Given the description of an element on the screen output the (x, y) to click on. 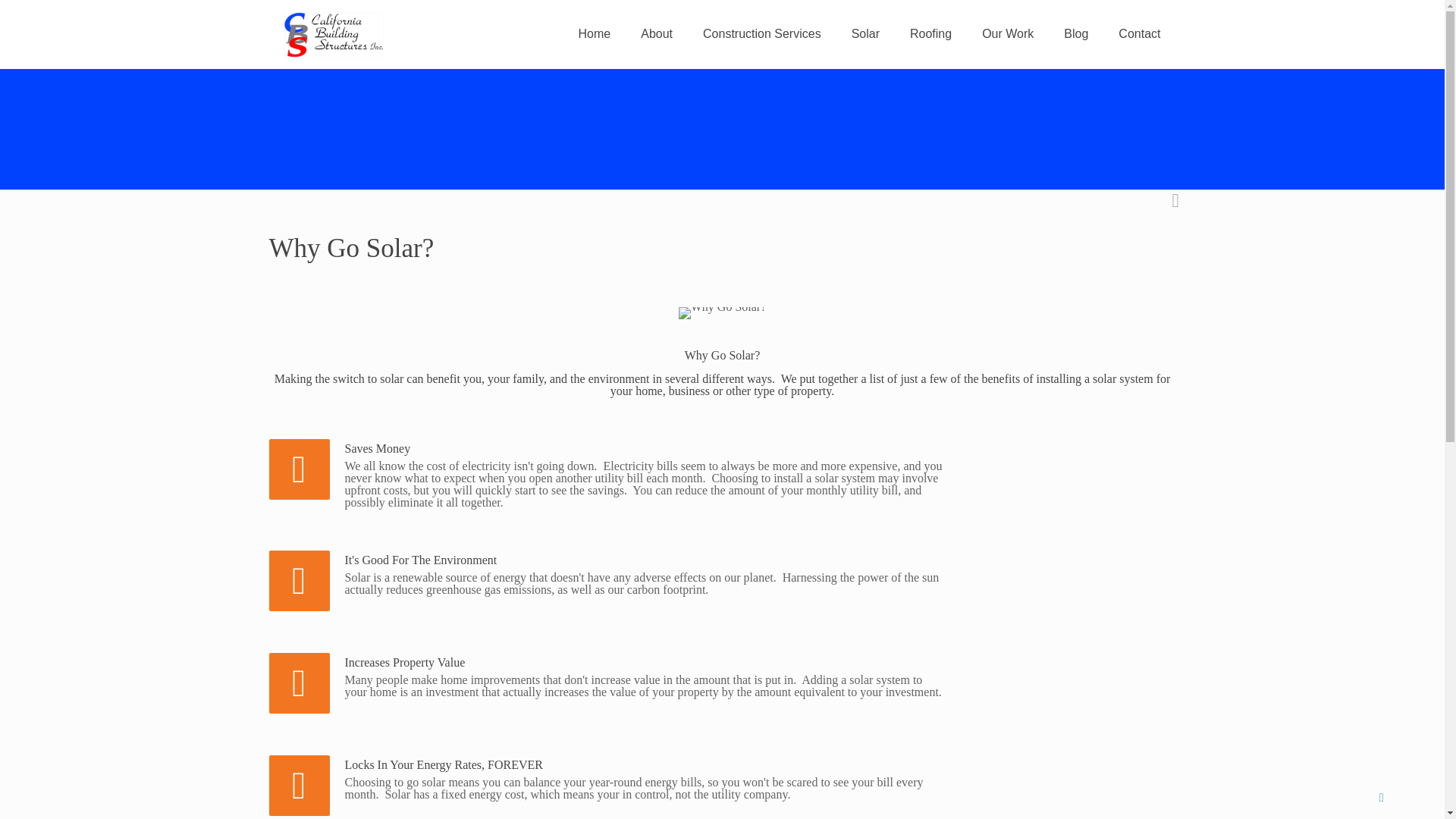
California Building Structures (332, 33)
Contact (1138, 33)
Home (594, 33)
Our Work (1007, 33)
Roofing (930, 33)
Construction Services (761, 33)
About (656, 33)
